Given the description of an element on the screen output the (x, y) to click on. 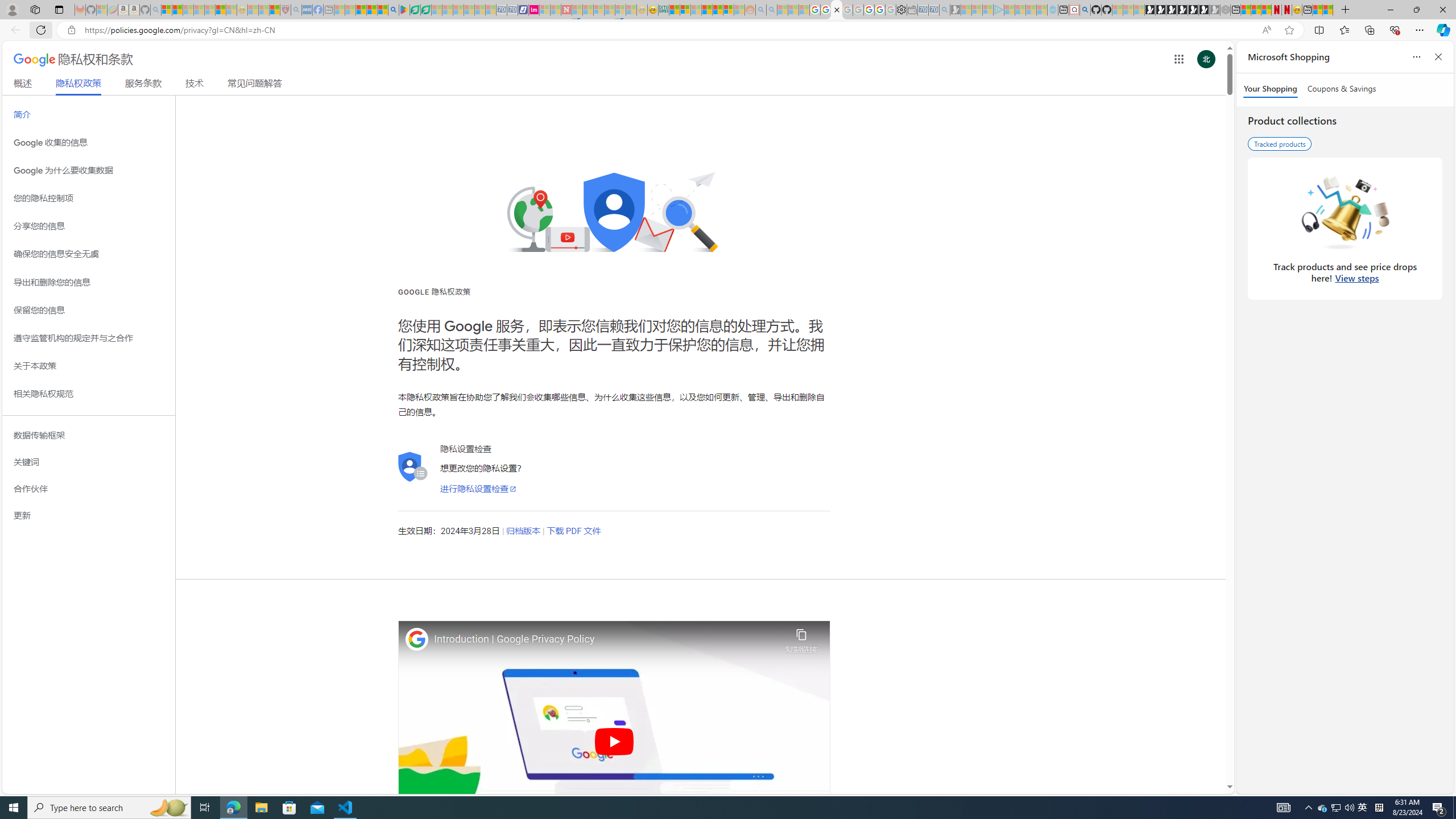
Expert Portfolios (707, 9)
